Given the description of an element on the screen output the (x, y) to click on. 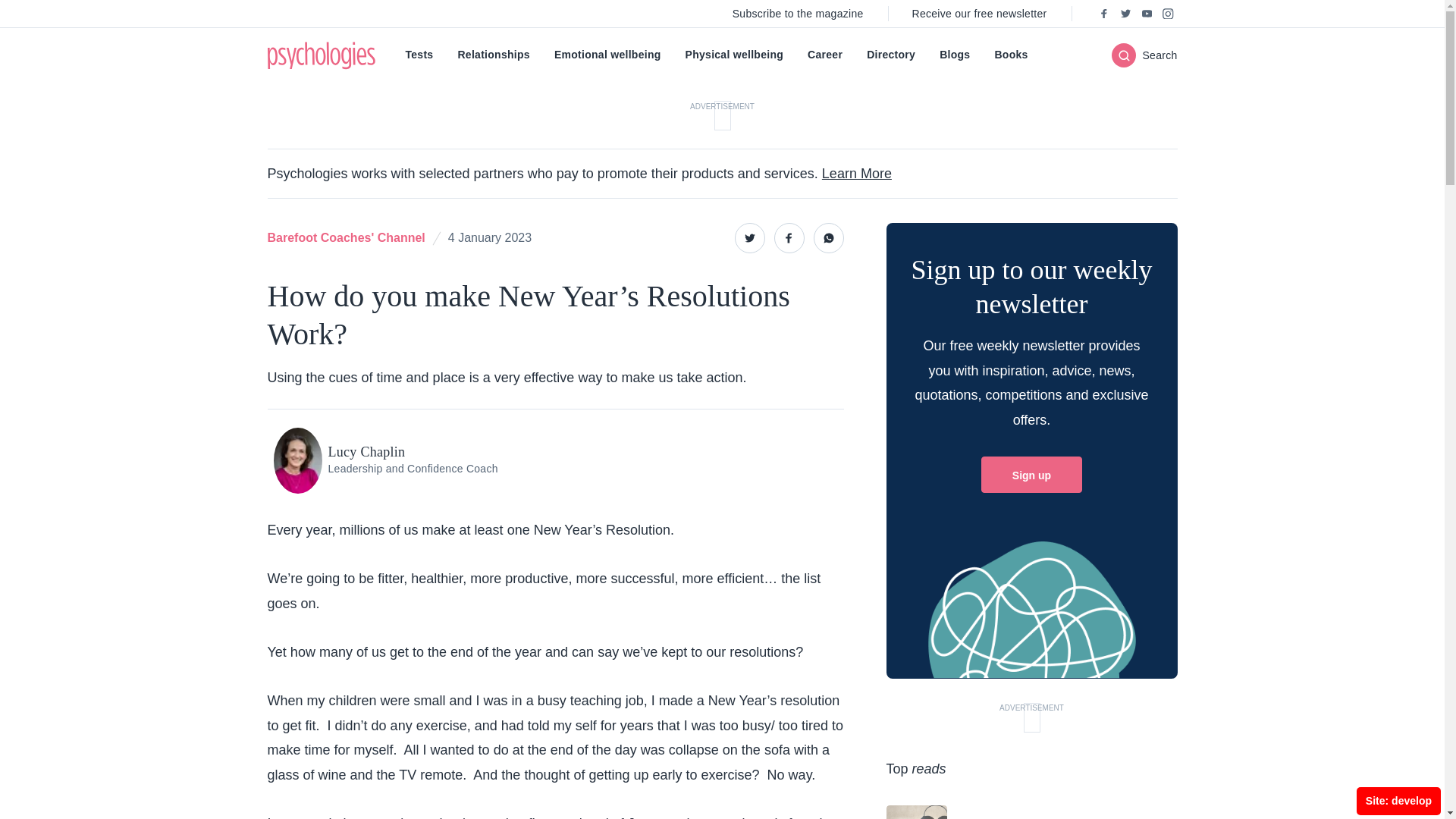
Tests (418, 54)
Emotional wellbeing (607, 54)
Click to share on WhatsApp (827, 237)
Click to share on Facebook (788, 237)
Psychologies (320, 55)
Relationships (493, 54)
Click to share on Twitter (748, 237)
